Given the description of an element on the screen output the (x, y) to click on. 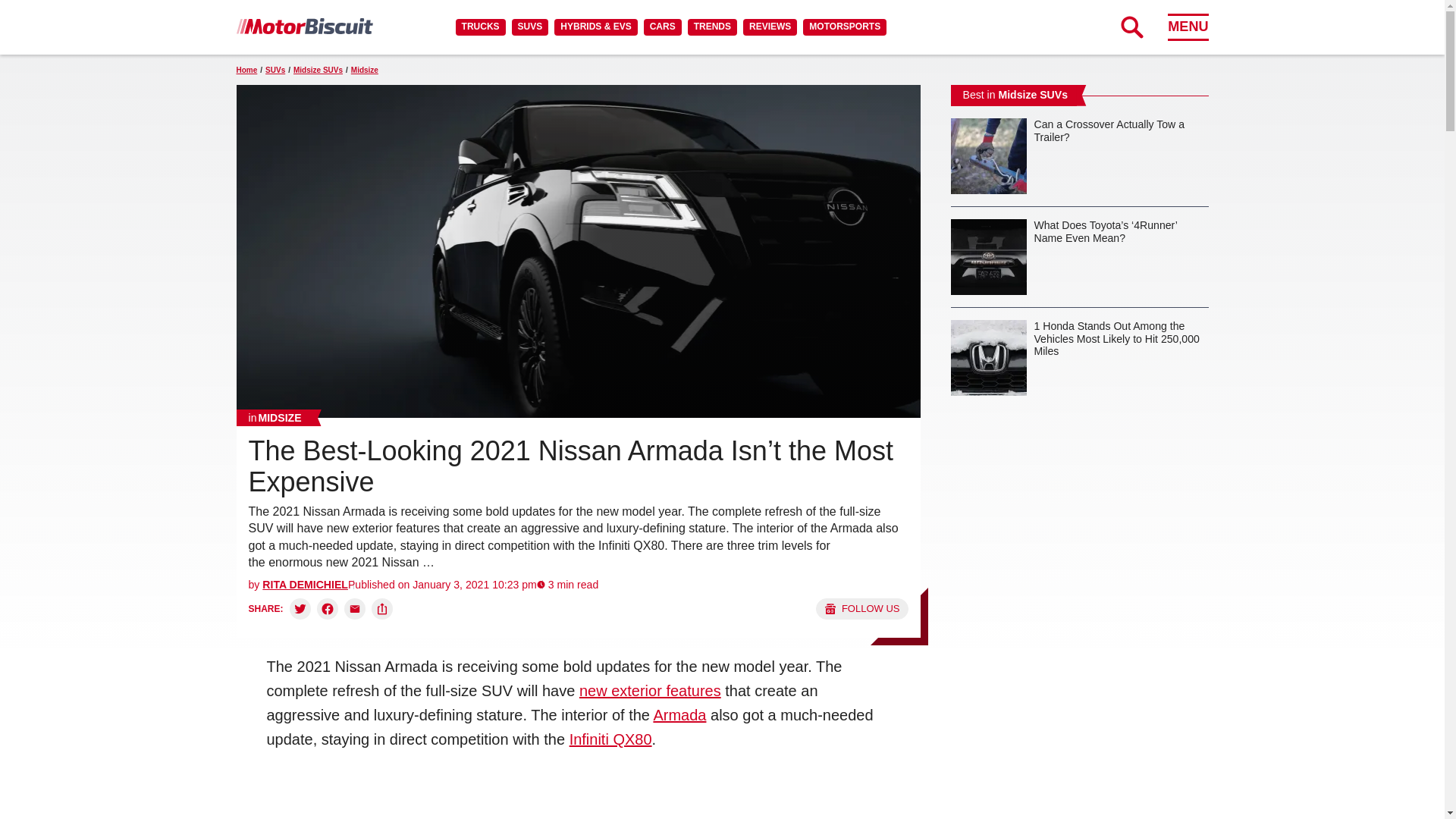
Midsize (274, 417)
Follow us on Google News (861, 608)
TRENDS (711, 26)
MOTORSPORTS (844, 26)
Copy link and share:  (382, 608)
TRUCKS (480, 26)
MotorBiscuit (303, 26)
Expand Search (1131, 26)
REVIEWS (769, 26)
